Given the description of an element on the screen output the (x, y) to click on. 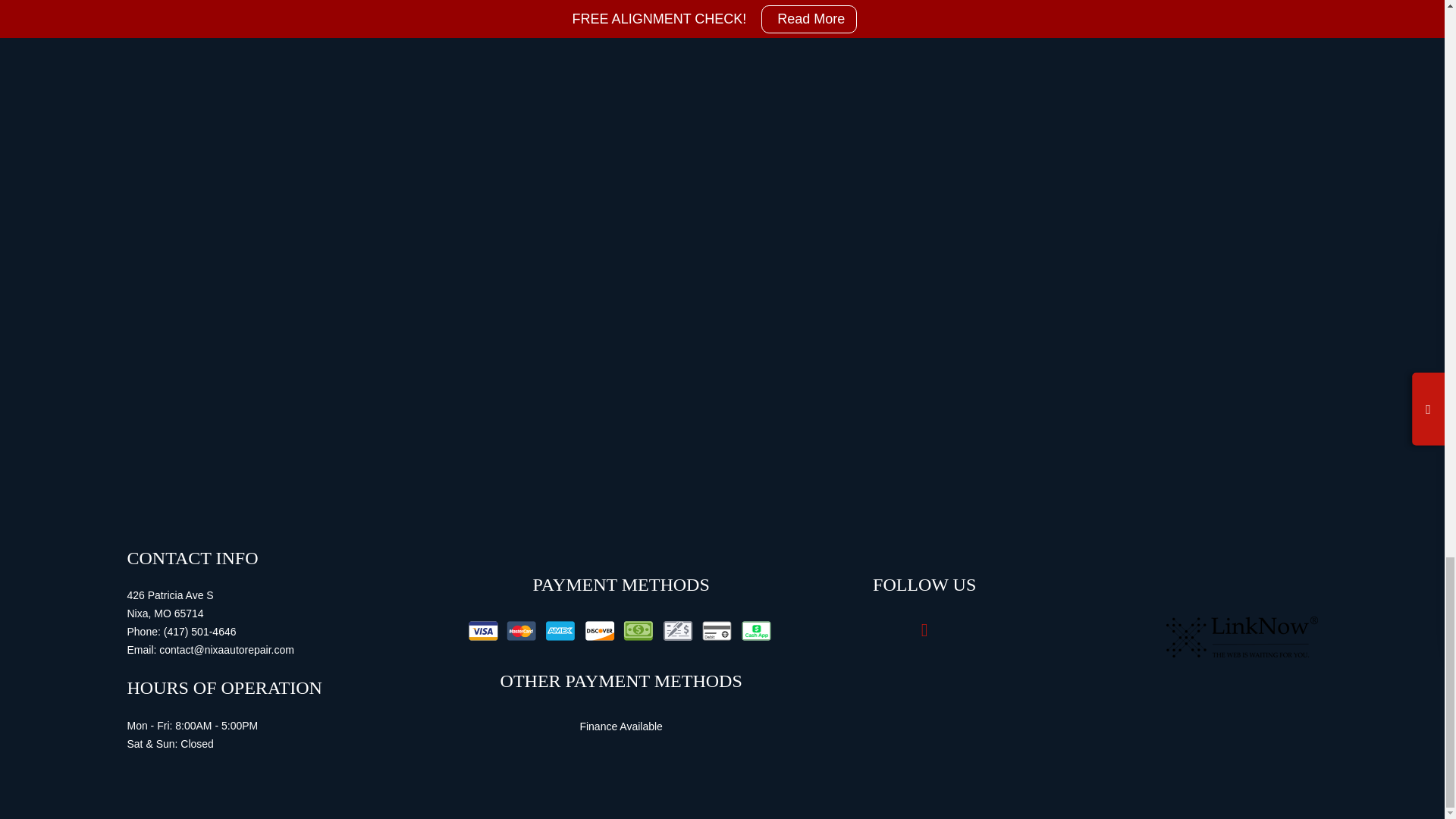
Visa (483, 630)
Mastercard (521, 630)
Cash App (755, 630)
Discover (599, 630)
Check (678, 630)
Cash (638, 630)
Debit Card (716, 630)
American Express (560, 630)
